Given the description of an element on the screen output the (x, y) to click on. 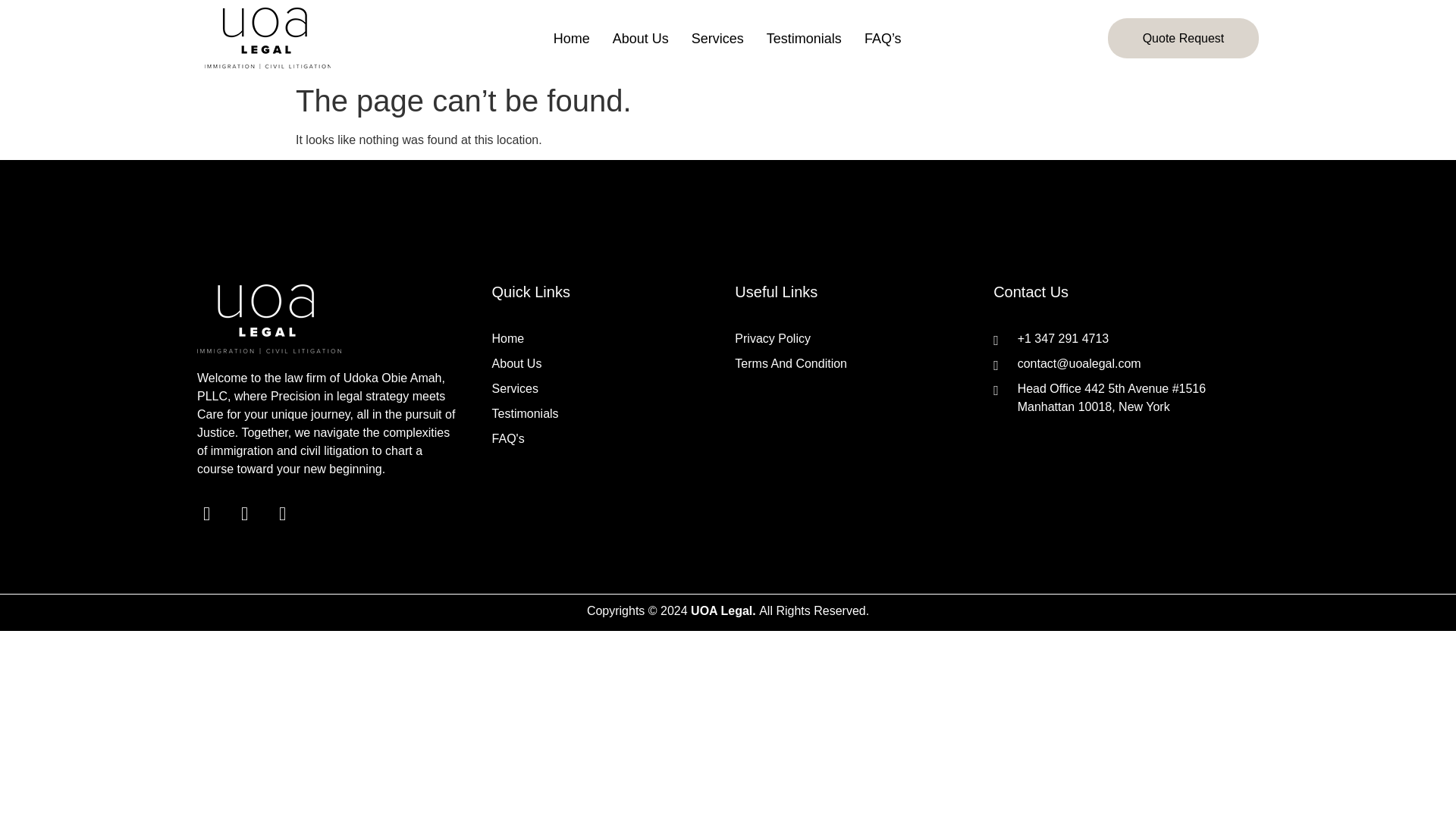
Terms And Condition (856, 363)
Testimonials (804, 38)
Home (571, 38)
About Us (606, 363)
Privacy Policy (856, 339)
FAQ's (606, 438)
Home (606, 339)
Quote Request (1183, 38)
Testimonials (606, 413)
Services (606, 389)
Services (717, 38)
About Us (640, 38)
